Given the description of an element on the screen output the (x, y) to click on. 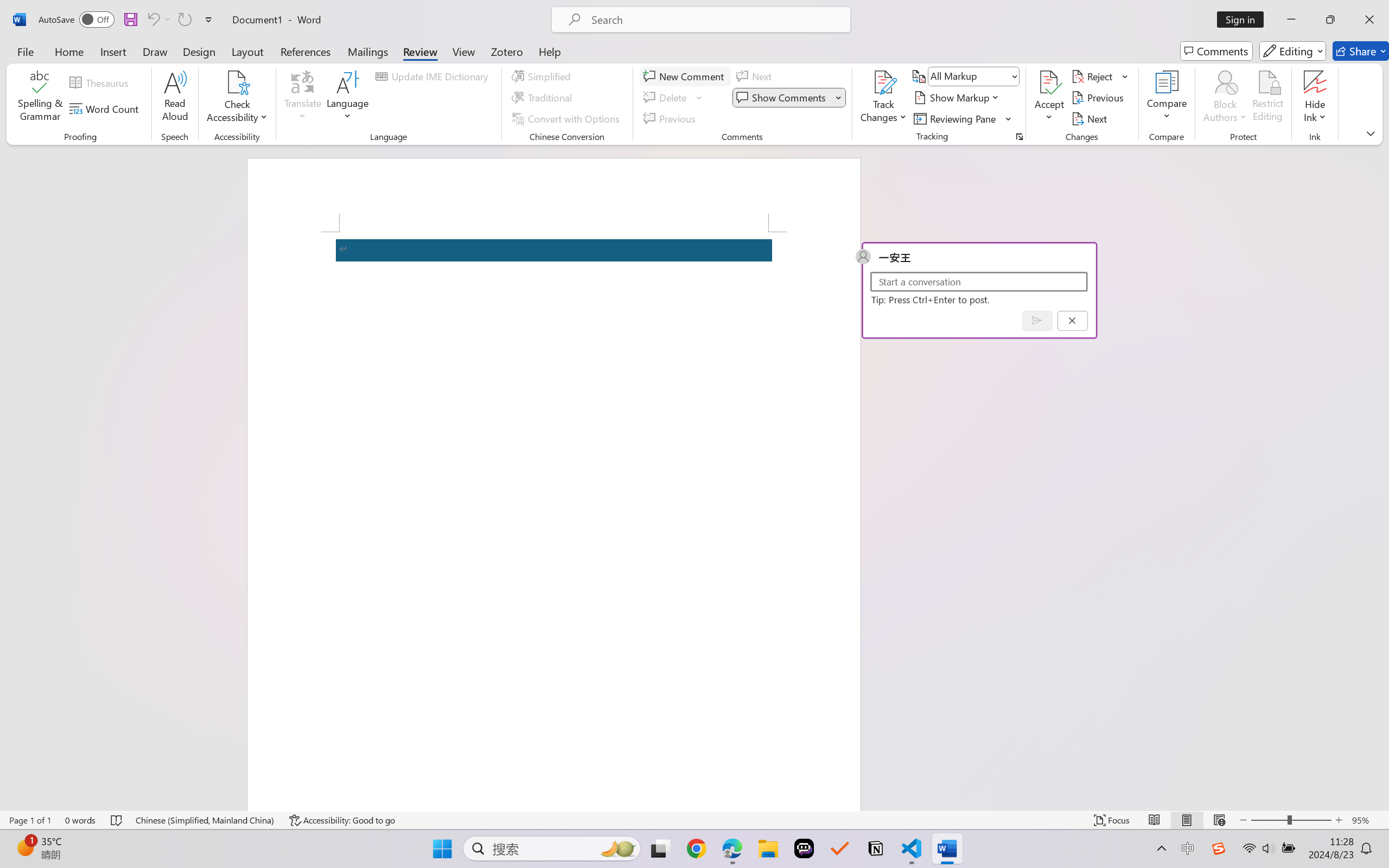
Check Accessibility (237, 81)
Change Tracking Options... (1019, 136)
Traditional (543, 97)
Block Authors (1224, 81)
Delete (666, 97)
Restrict Editing (1267, 97)
Translate (303, 97)
